Given the description of an element on the screen output the (x, y) to click on. 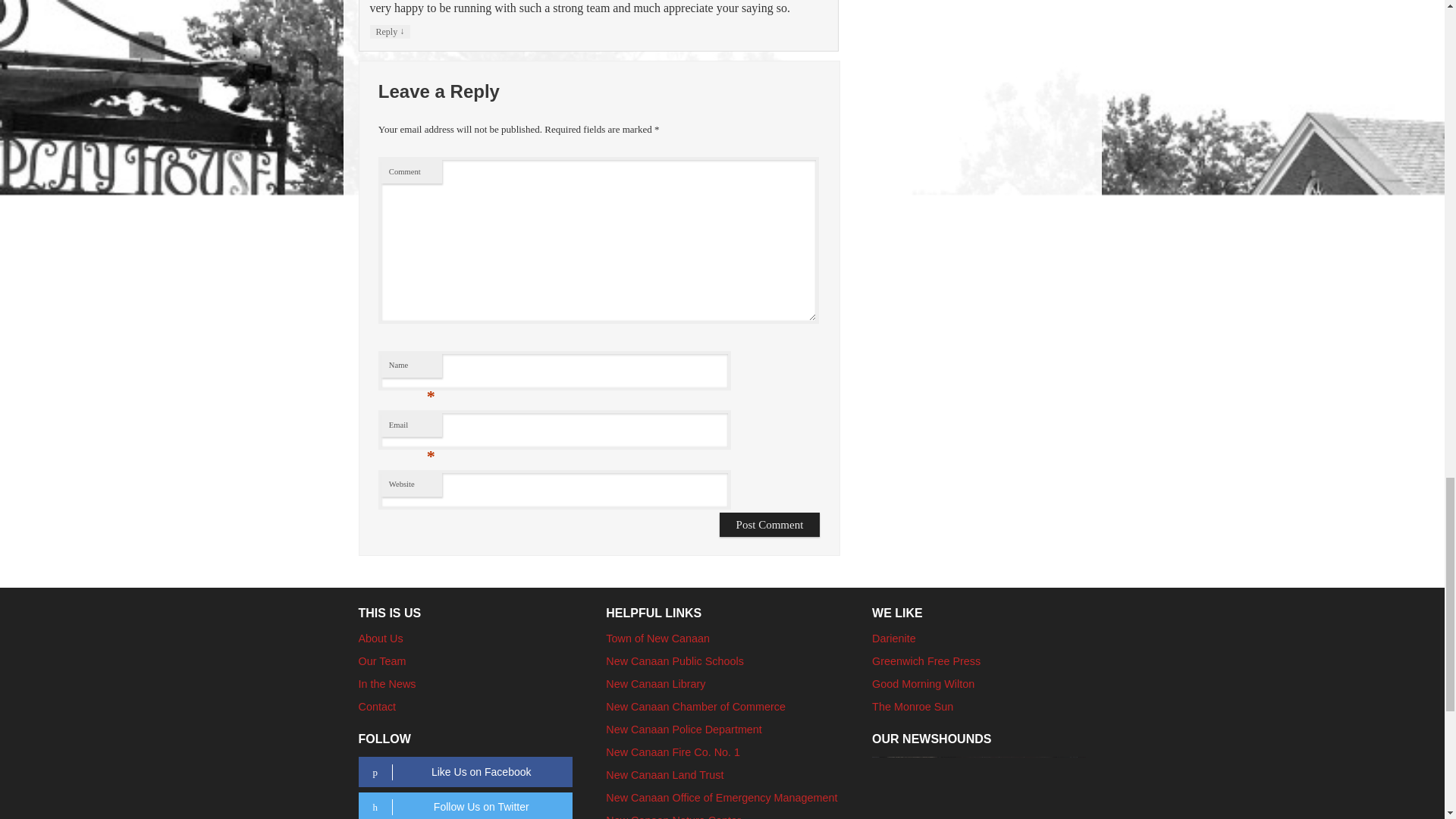
Post Comment (770, 756)
